Given the description of an element on the screen output the (x, y) to click on. 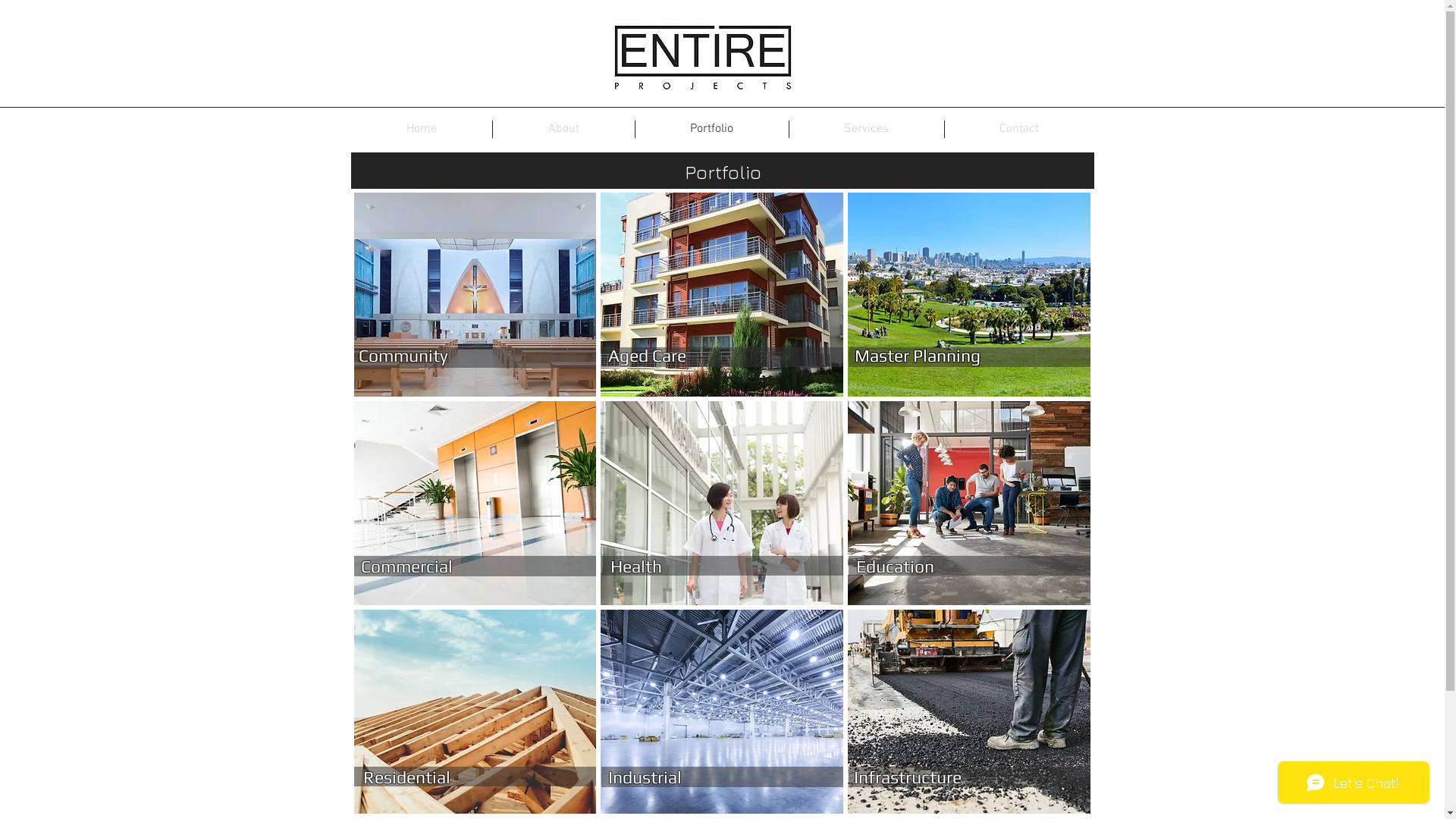
Project Management Element type: hover (701, 56)
About Element type: text (563, 129)
Home Element type: text (420, 129)
Contact Element type: text (1019, 129)
Portfolio Element type: text (711, 129)
Services Element type: text (865, 129)
